Given the description of an element on the screen output the (x, y) to click on. 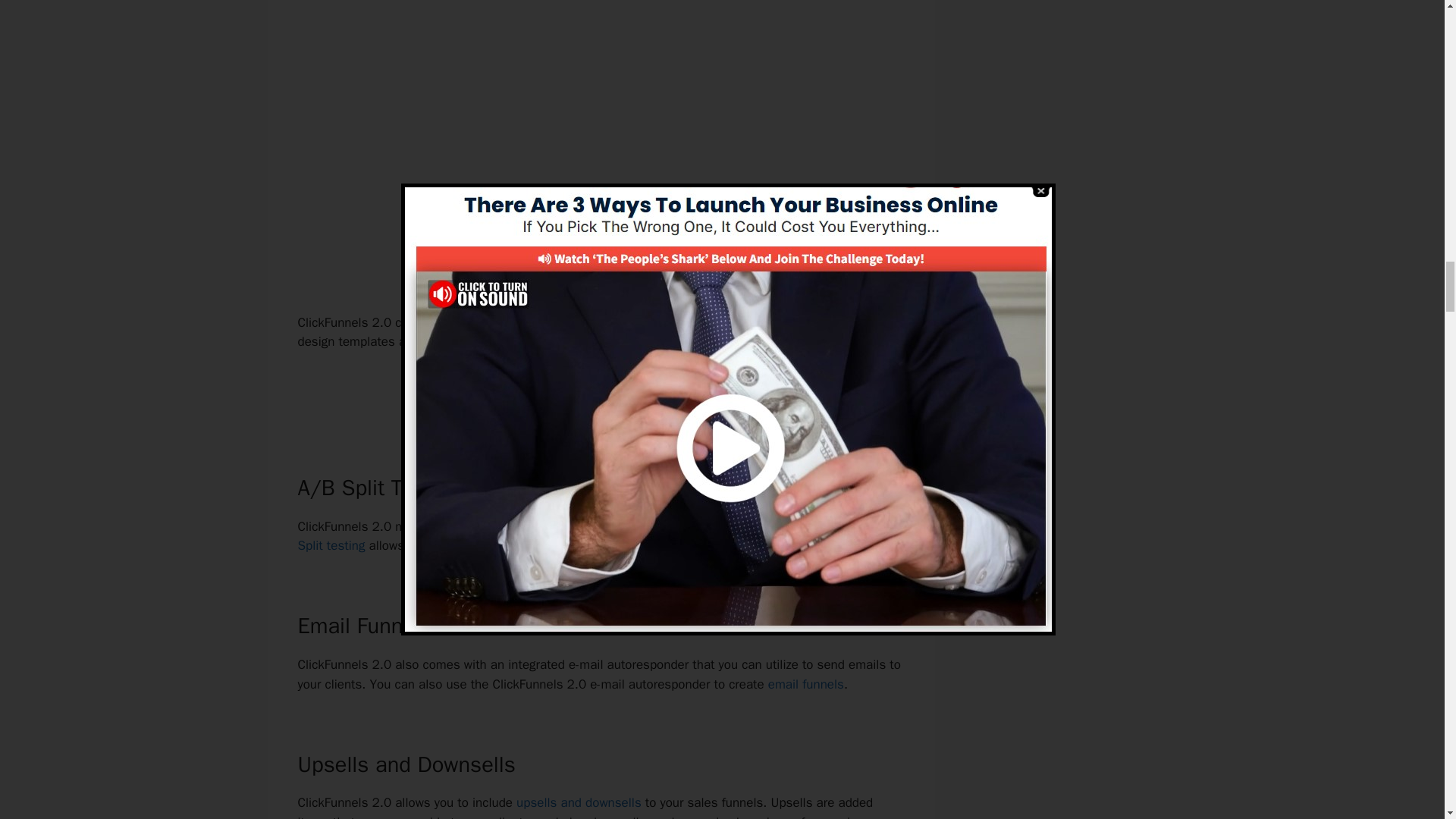
email funnels (806, 684)
Discover Your Preferred Templates Today (601, 393)
Split testing (331, 545)
upsells and downsells (579, 802)
